Given the description of an element on the screen output the (x, y) to click on. 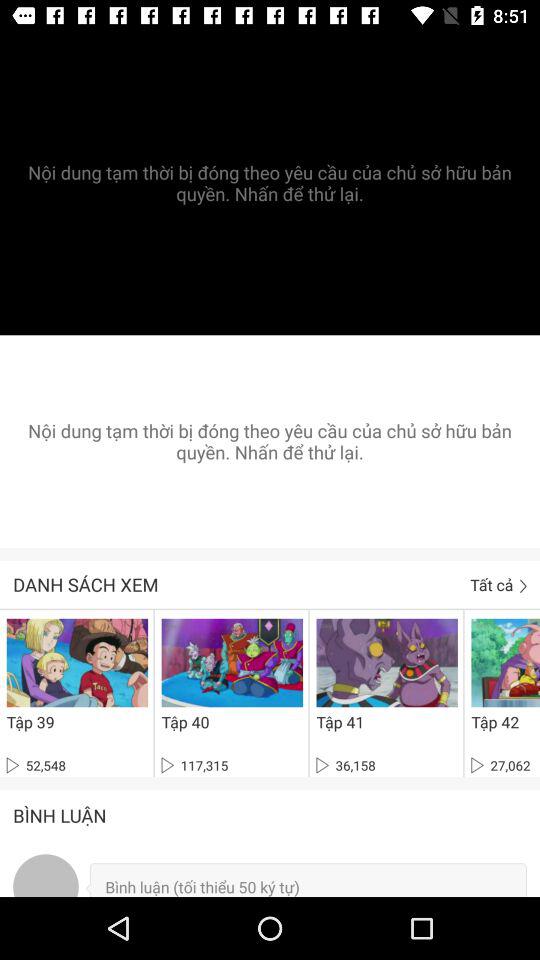
tap item above the 52,548 icon (30, 721)
